Given the description of an element on the screen output the (x, y) to click on. 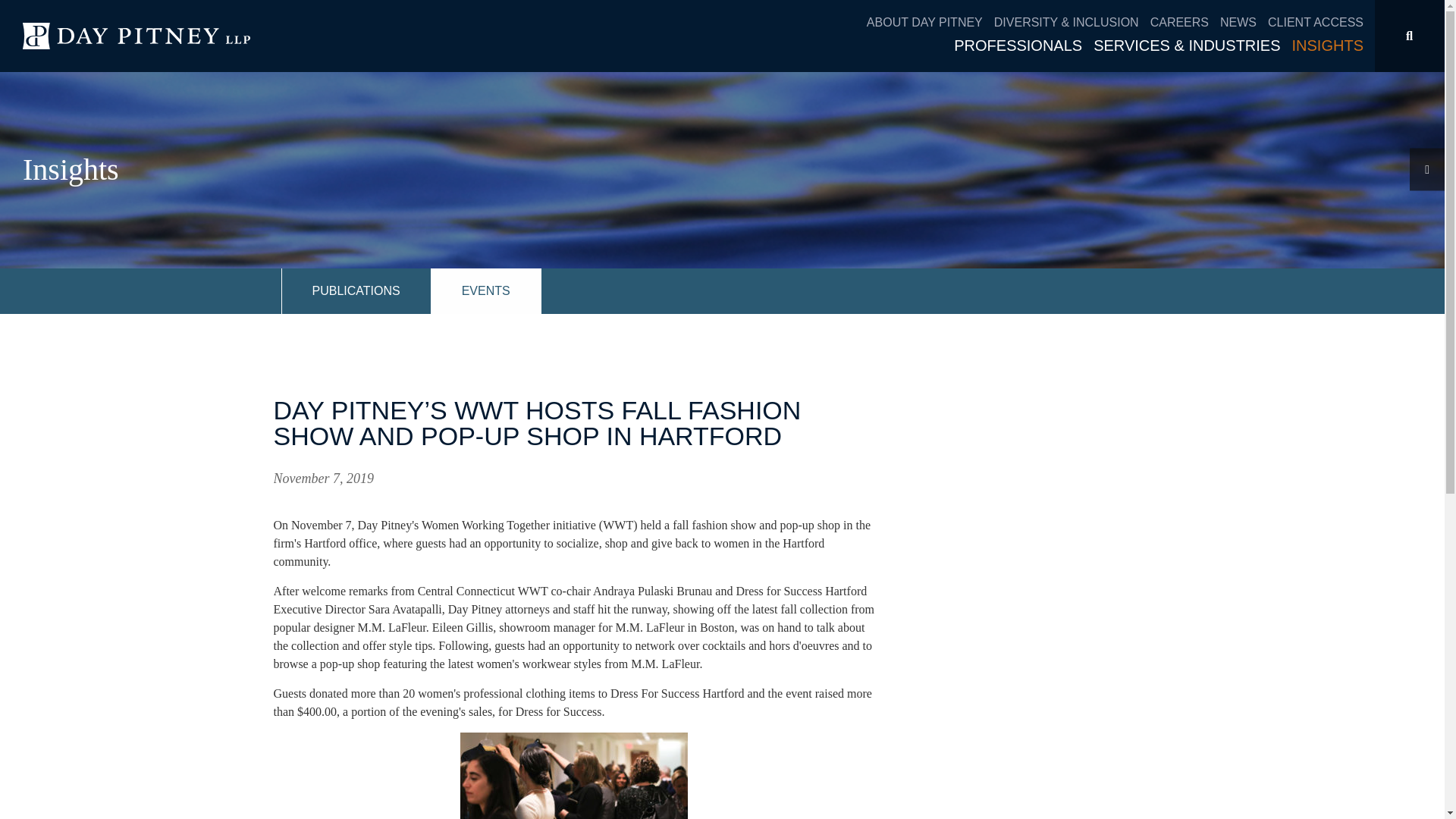
CLIENT ACCESS (1315, 22)
INSIGHTS (1327, 45)
CAREERS (1185, 22)
NEWS (1244, 22)
EVENTS (485, 290)
PUBLICATIONS (355, 290)
ABOUT DAY PITNEY (930, 22)
PROFESSIONALS (1023, 45)
